Given the description of an element on the screen output the (x, y) to click on. 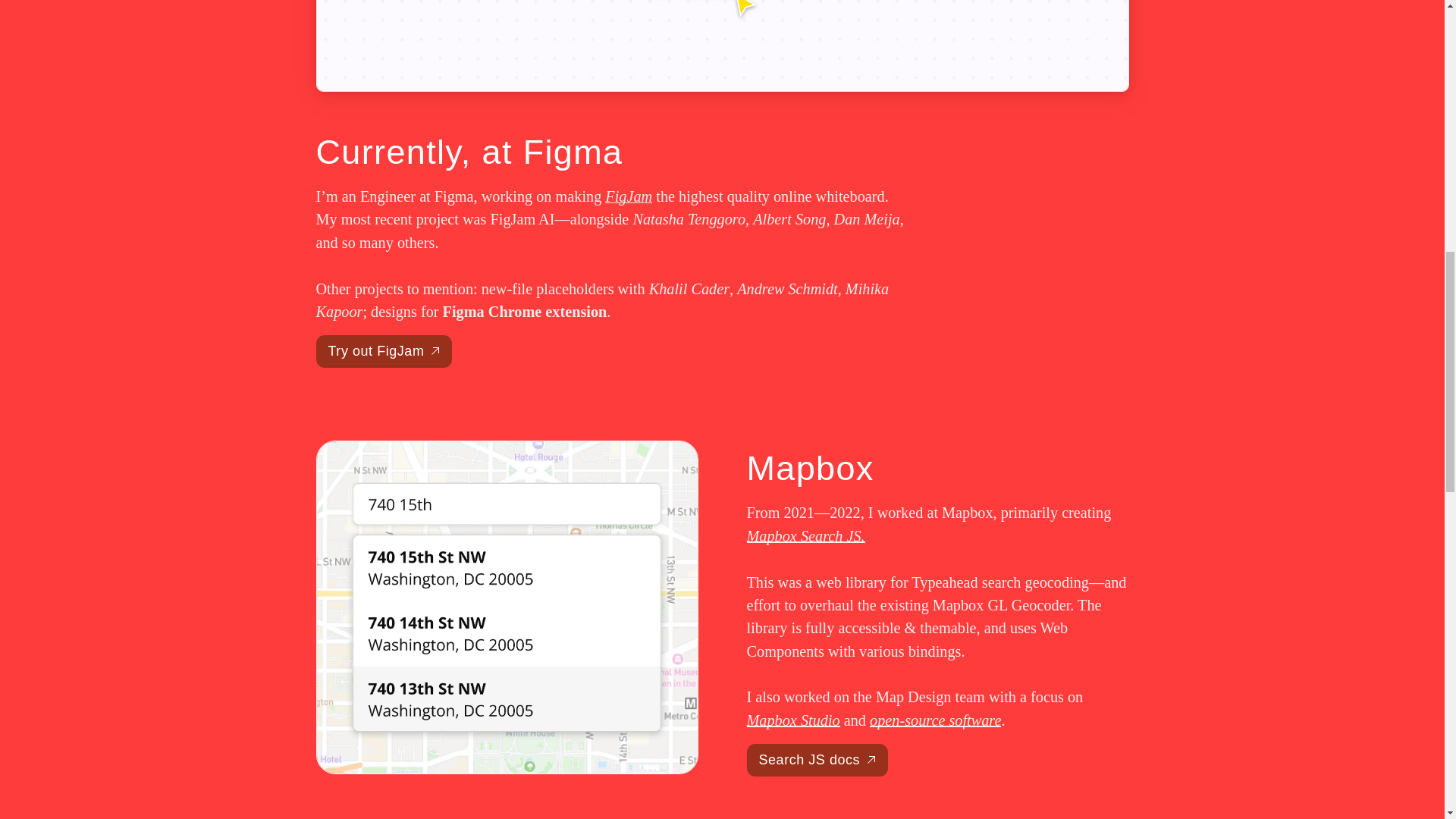
open-source software (935, 719)
Mapbox Search JS. (804, 535)
Search JS docs (815, 759)
Try out FigJam (383, 350)
FigJam (628, 196)
Mapbox Studio (792, 719)
